Given the description of an element on the screen output the (x, y) to click on. 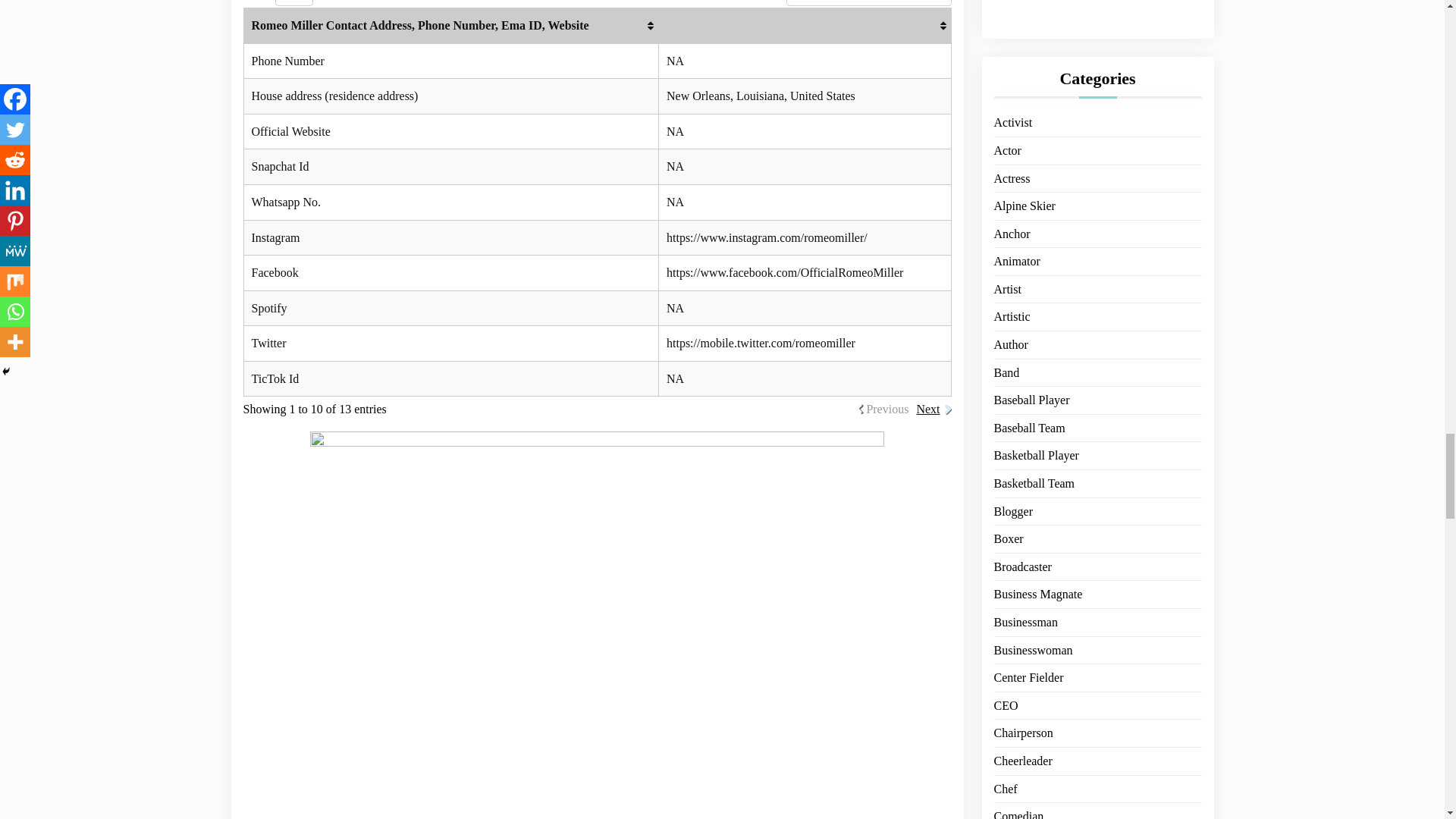
Next (927, 409)
Previous (887, 409)
